Given the description of an element on the screen output the (x, y) to click on. 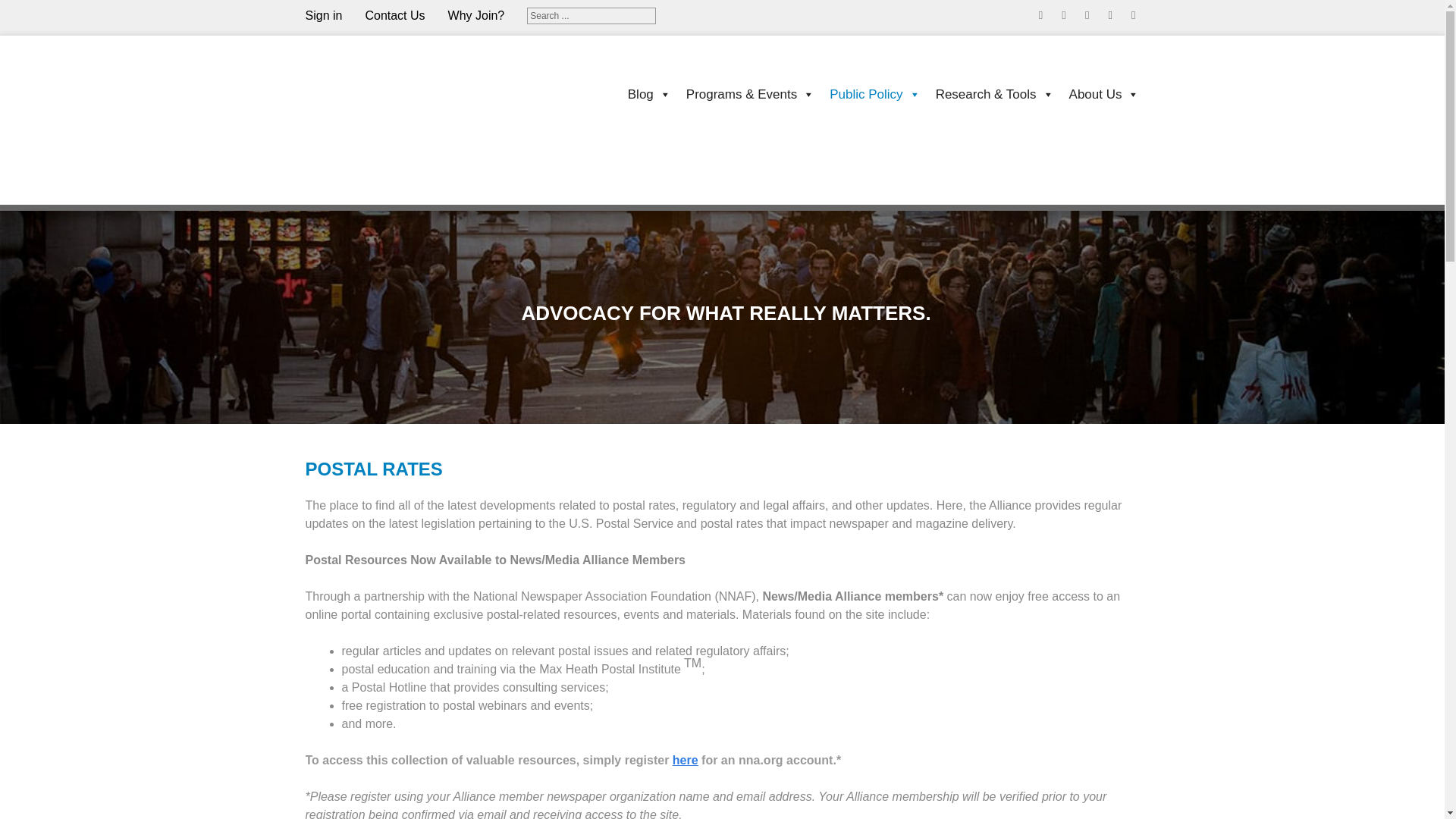
Search ... (591, 15)
Contact Us (405, 15)
Public Policy (866, 93)
Blog (641, 93)
Why Join? (487, 15)
Sign in (334, 15)
